Given the description of an element on the screen output the (x, y) to click on. 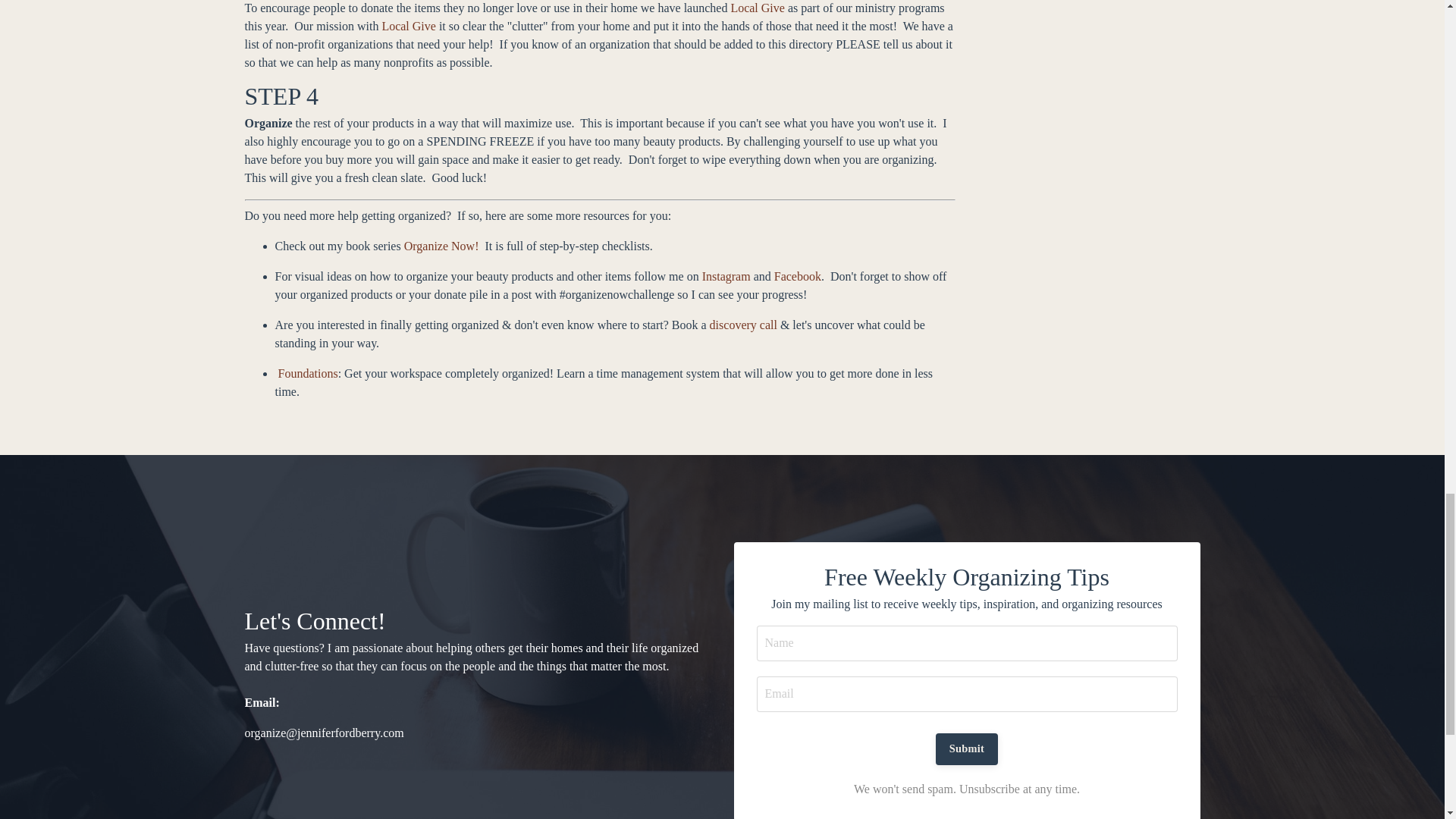
Organize Now! (441, 245)
discovery call (743, 324)
Local Give (408, 25)
Foundations (307, 373)
Local Give (757, 7)
Facebook (797, 276)
Instagram (726, 276)
